Given the description of an element on the screen output the (x, y) to click on. 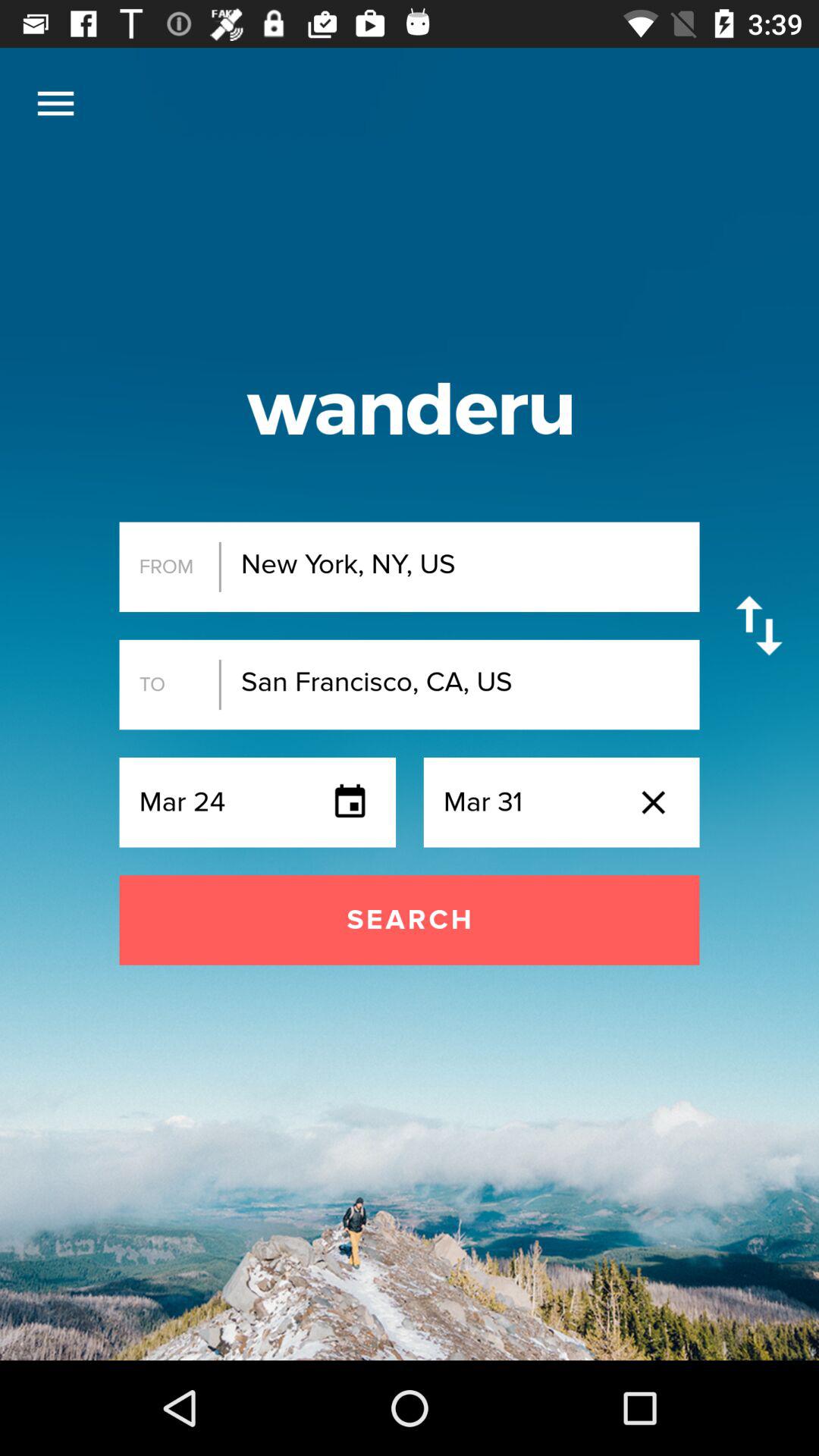
click menu option (55, 103)
